Given the description of an element on the screen output the (x, y) to click on. 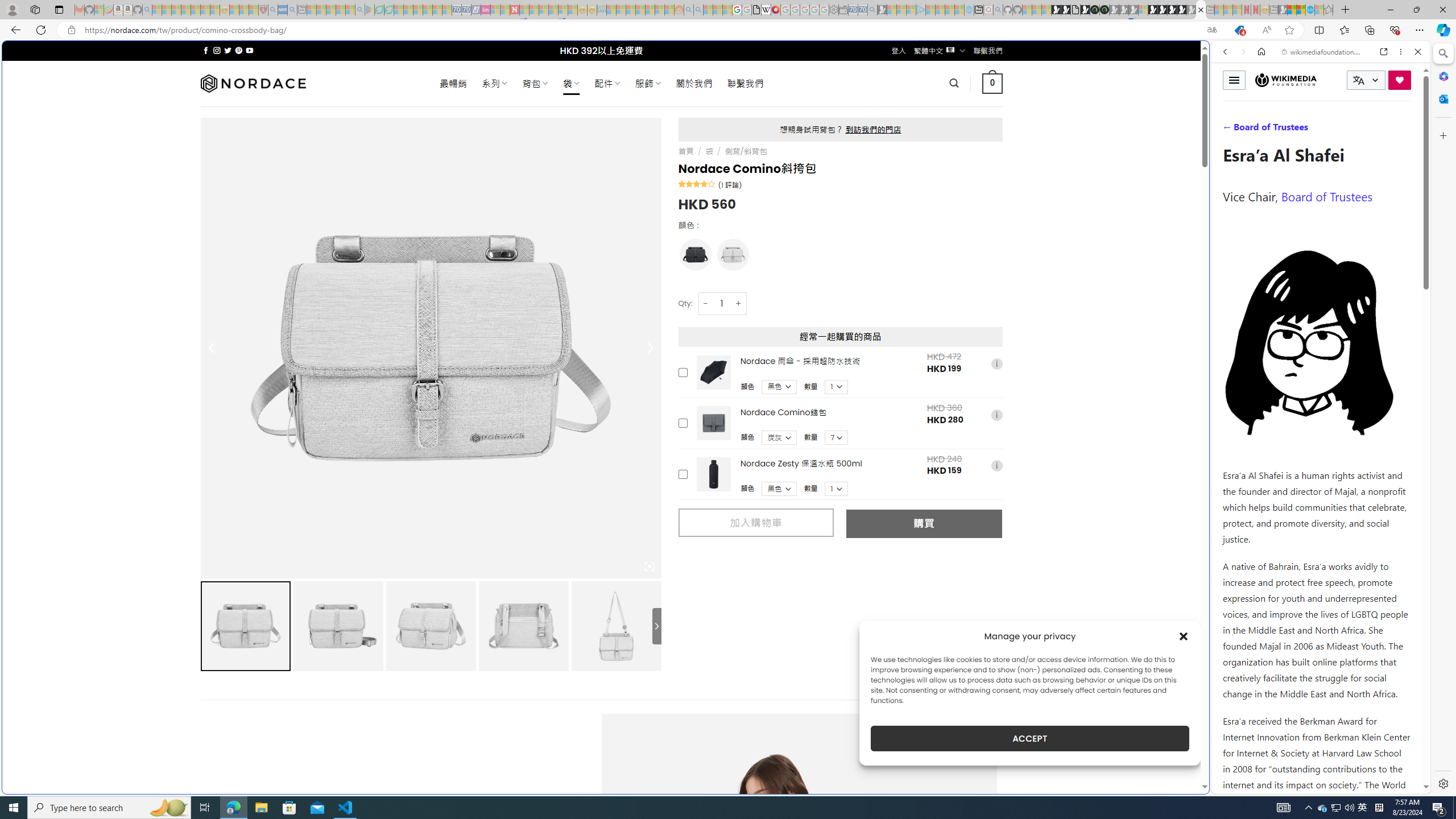
github - Search - Sleeping (997, 9)
MSN - Sleeping (1283, 9)
utah sues federal government - Search - Sleeping (291, 9)
Class: i icon icon-translate language-switcher__icon (1358, 80)
